Given the description of an element on the screen output the (x, y) to click on. 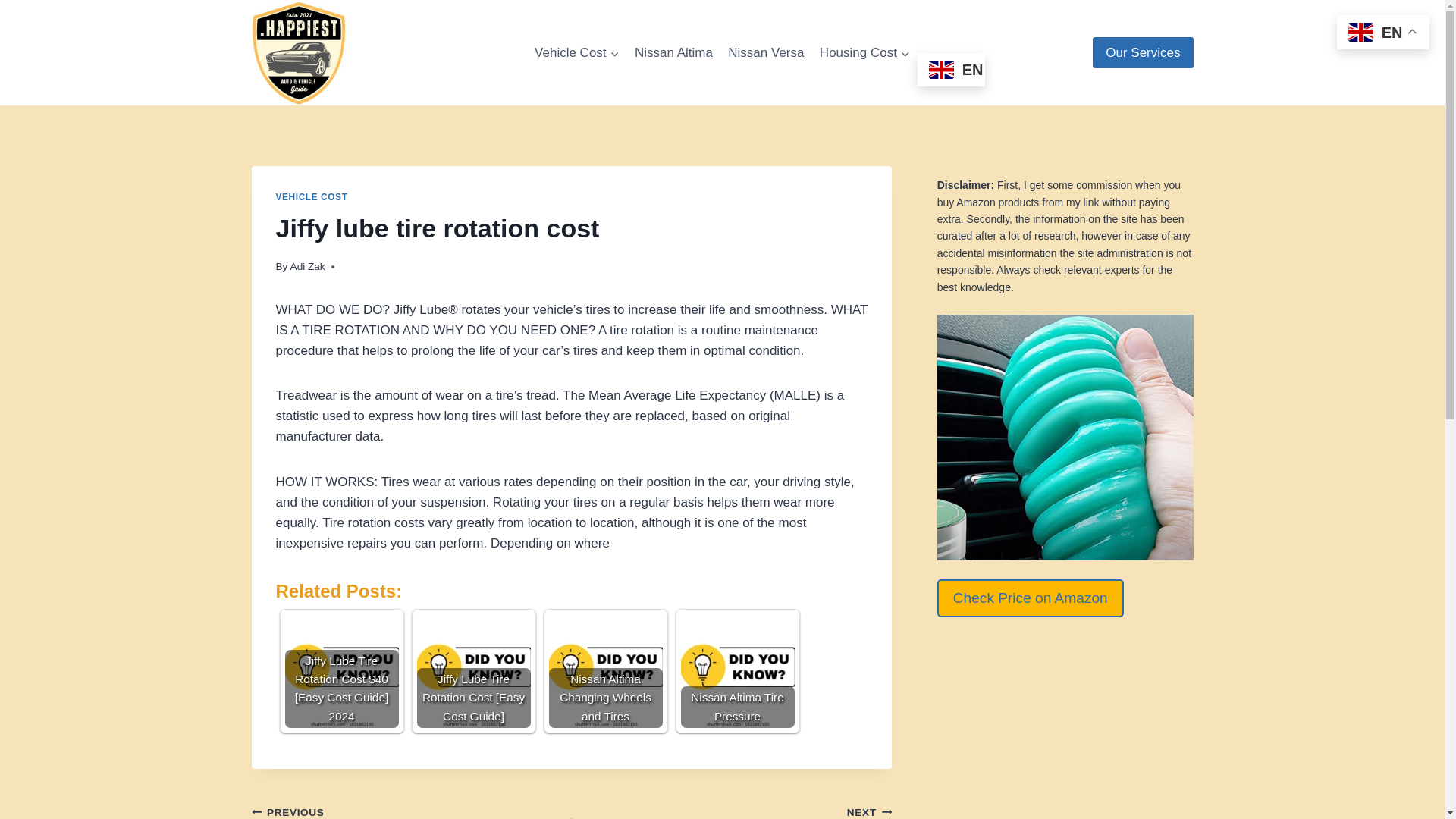
Housing Cost (864, 53)
Advertisement (1065, 728)
Nissan Altima Tire Pressure (737, 671)
Vehicle Cost (577, 53)
Nissan Altima (673, 53)
Nissan Versa (766, 53)
Nissan Altima Changing Wheels and Tires (605, 671)
